Given the description of an element on the screen output the (x, y) to click on. 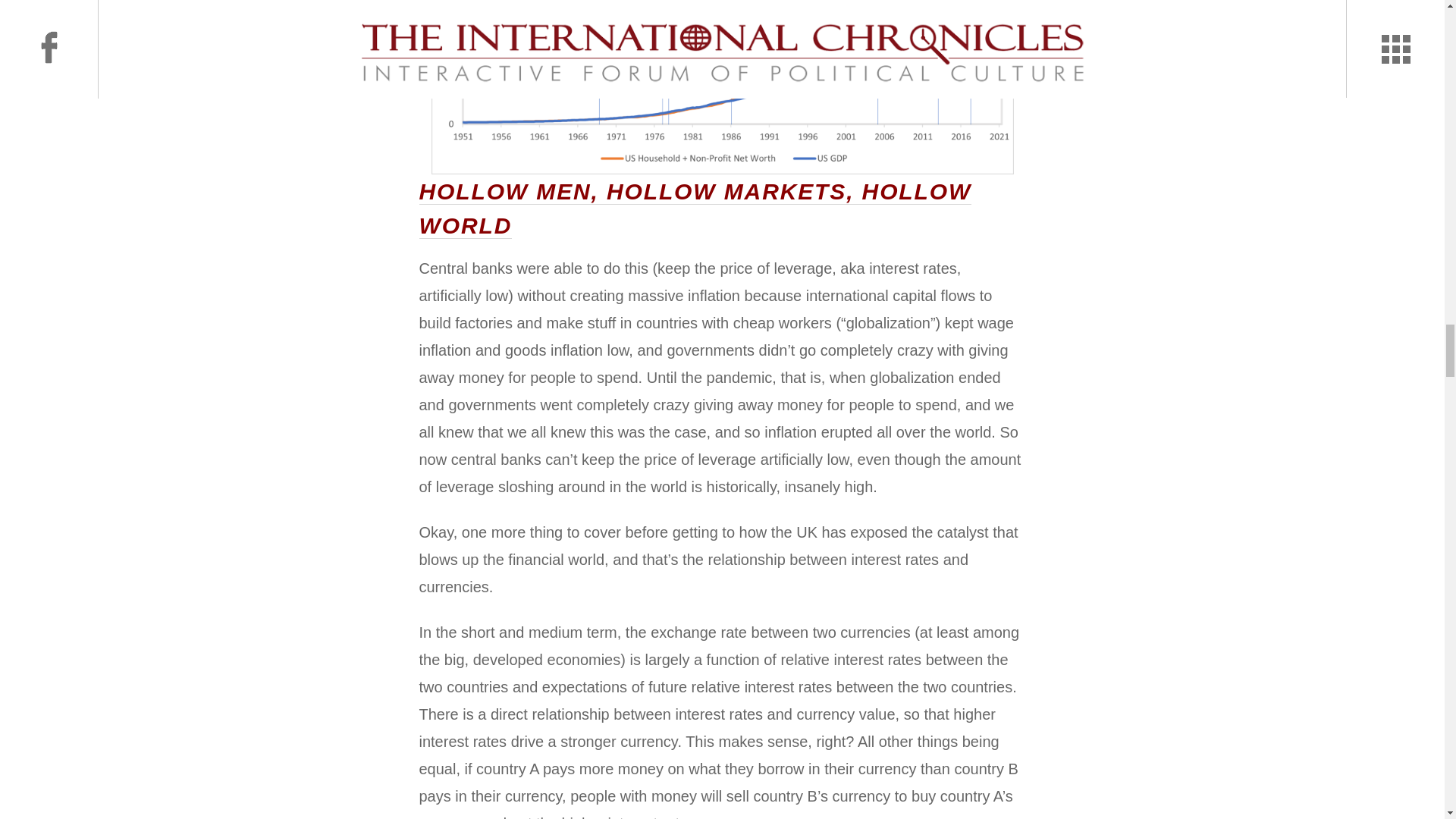
HOLLOW MEN, HOLLOW MARKETS, HOLLOW WORLD (695, 209)
